Given the description of an element on the screen output the (x, y) to click on. 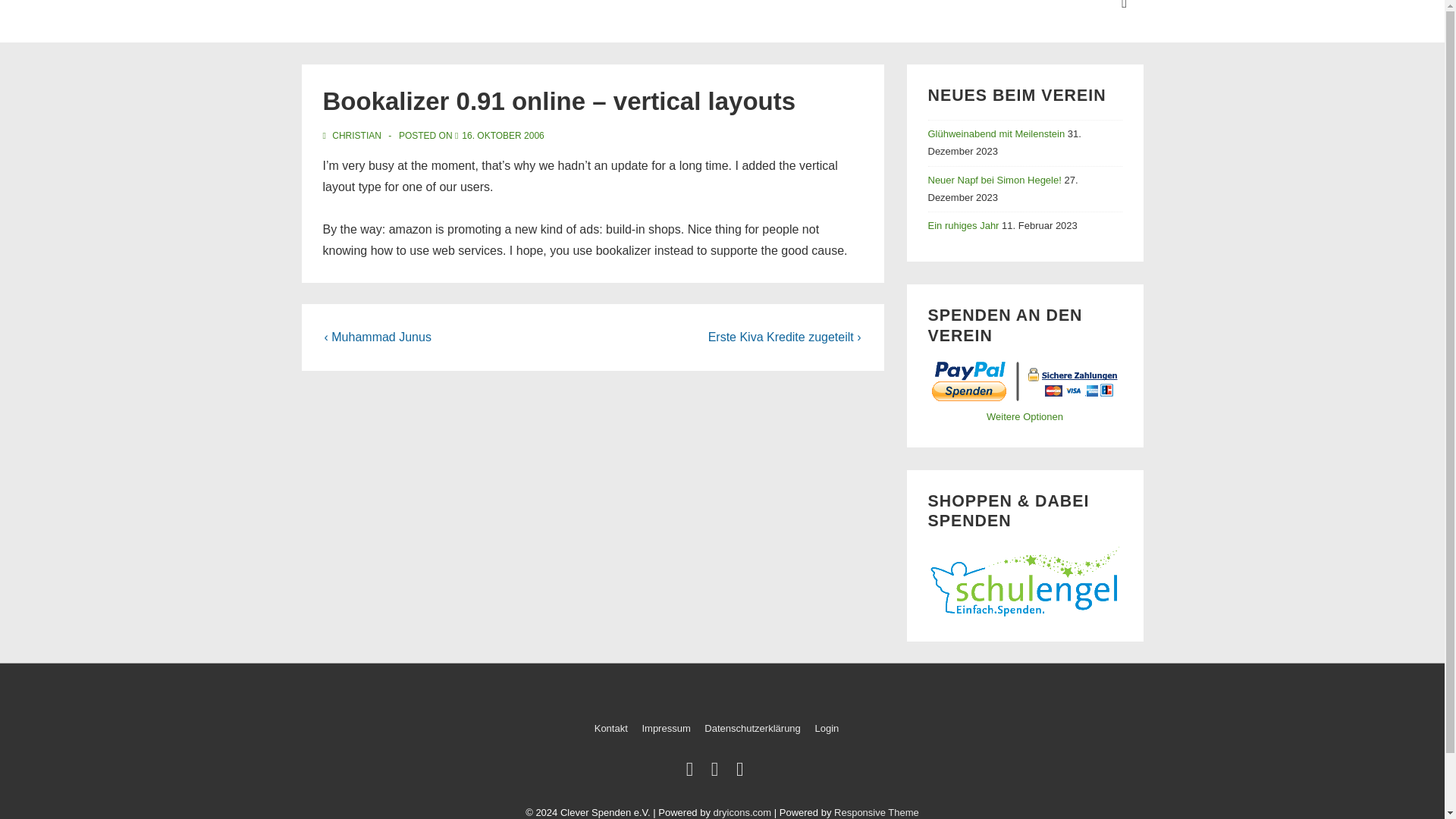
dryicons.com (742, 812)
instagram (742, 772)
Weitere Optionen (1024, 416)
facebook (718, 772)
Neuer Napf bei Simon Hegele! (994, 179)
Kontakt (610, 727)
16. OKTOBER 2006 (502, 135)
CHRISTIAN (353, 135)
Impressum (666, 727)
Login (825, 727)
Ein ruhiges Jahr (963, 225)
twitter (692, 772)
Responsive Theme (876, 812)
